Given the description of an element on the screen output the (x, y) to click on. 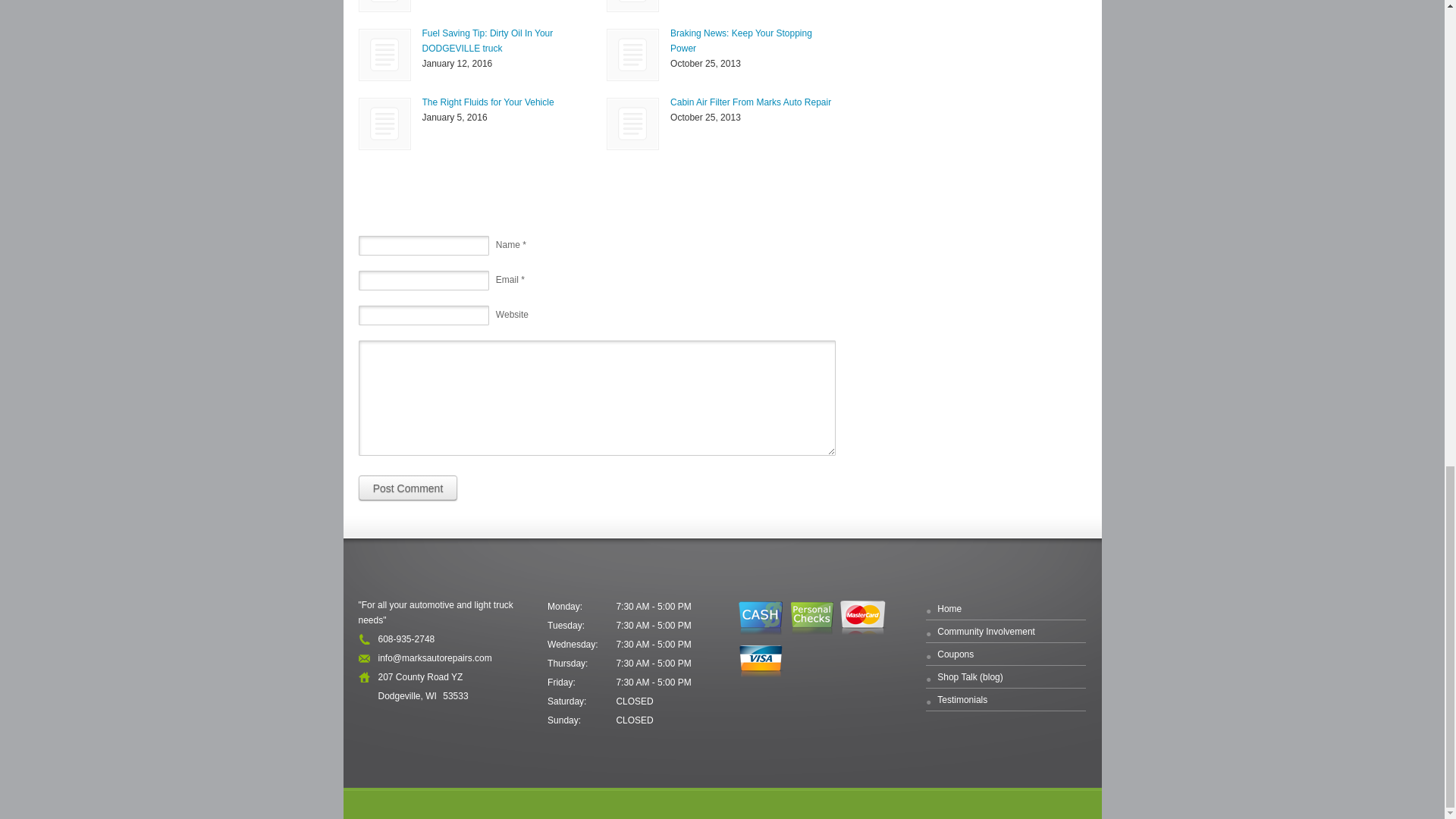
Fuel Saving Tip: Dirty Oil In Your DODGEVILLE truck (487, 40)
The Right Fluids for Your Vehicle (384, 123)
Post Comment (407, 488)
Hello world! (632, 5)
Hello world! (633, 6)
Fuel Saving Tip: Dirty Oil In Your DODGEVILLE truck (487, 40)
The Right Fluids for Your Vehicle (487, 102)
The Right Fluids for Your Vehicle (487, 102)
Fuel Saving Tip: Dirty Oil In Your DODGEVILLE truck (384, 54)
The Right Fluids for Your Vehicle (384, 123)
Fuel Saving Tip: Dirty Oil In Your DODGEVILLE truck (384, 54)
